Given the description of an element on the screen output the (x, y) to click on. 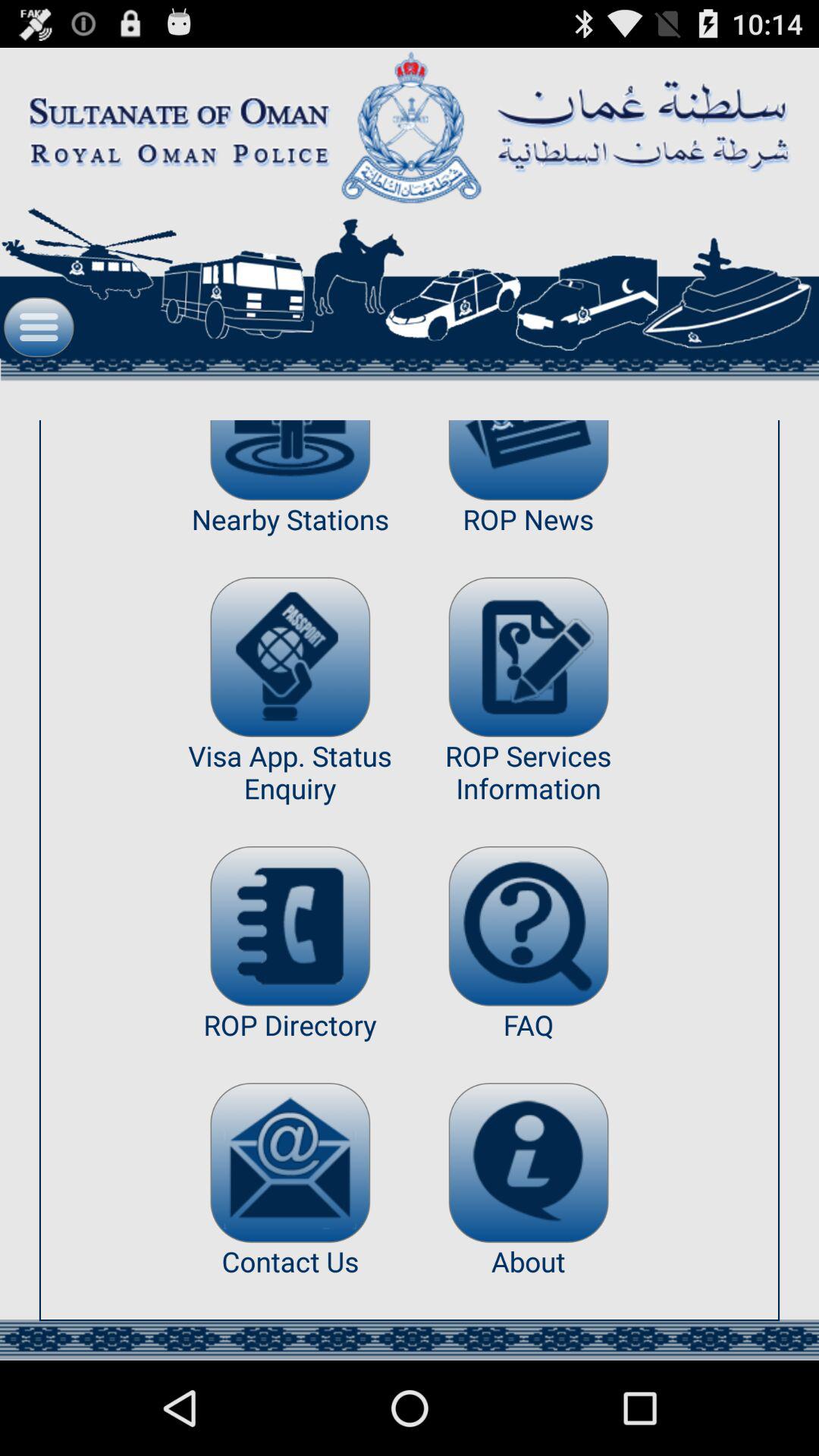
find nearby stations (290, 460)
